Given the description of an element on the screen output the (x, y) to click on. 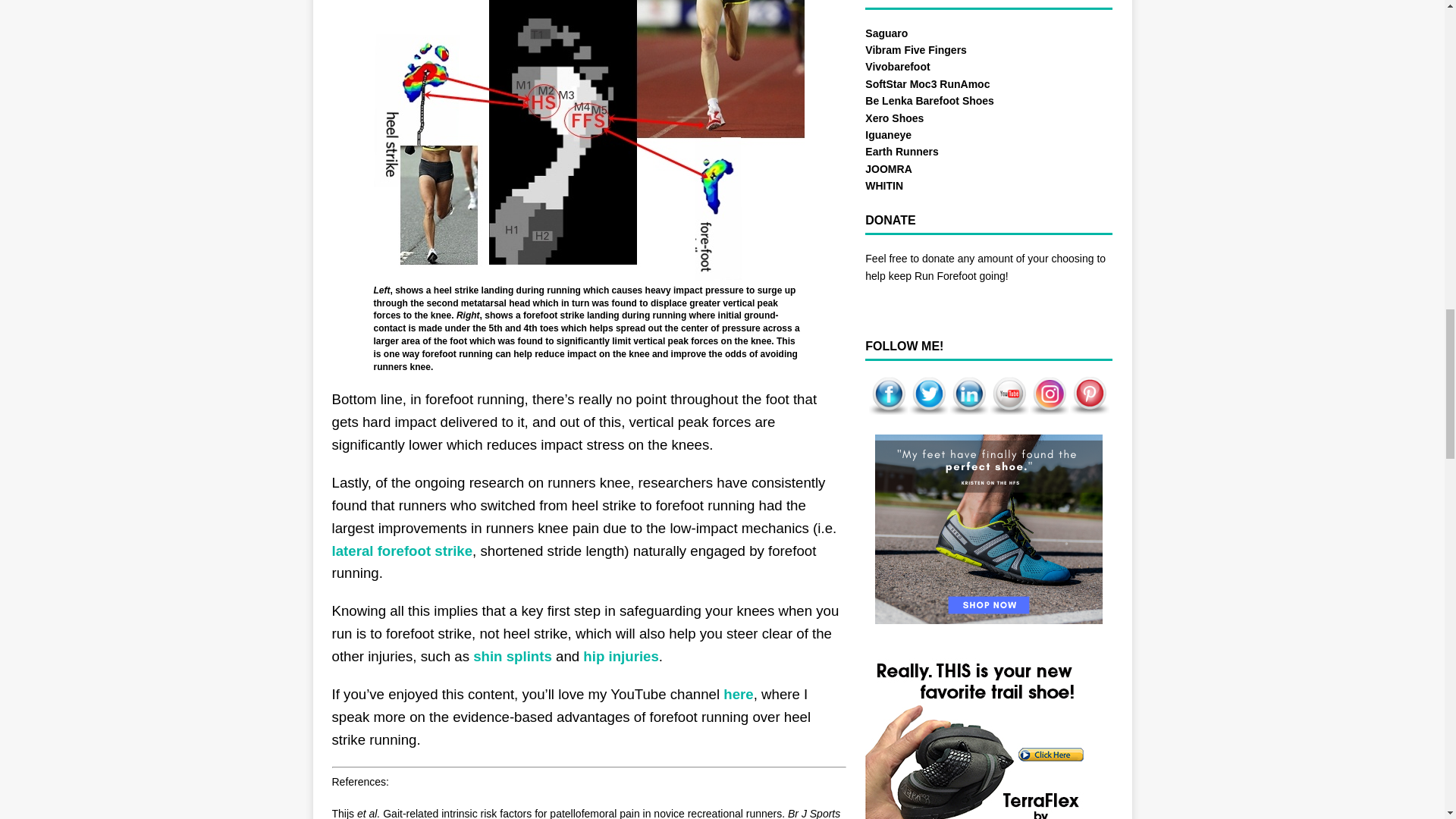
shin splints (509, 656)
lateral forefoot strike (402, 550)
hip injuries (621, 656)
here (737, 693)
Is Heel Strike Running Bad for the Knees? (589, 140)
